Given the description of an element on the screen output the (x, y) to click on. 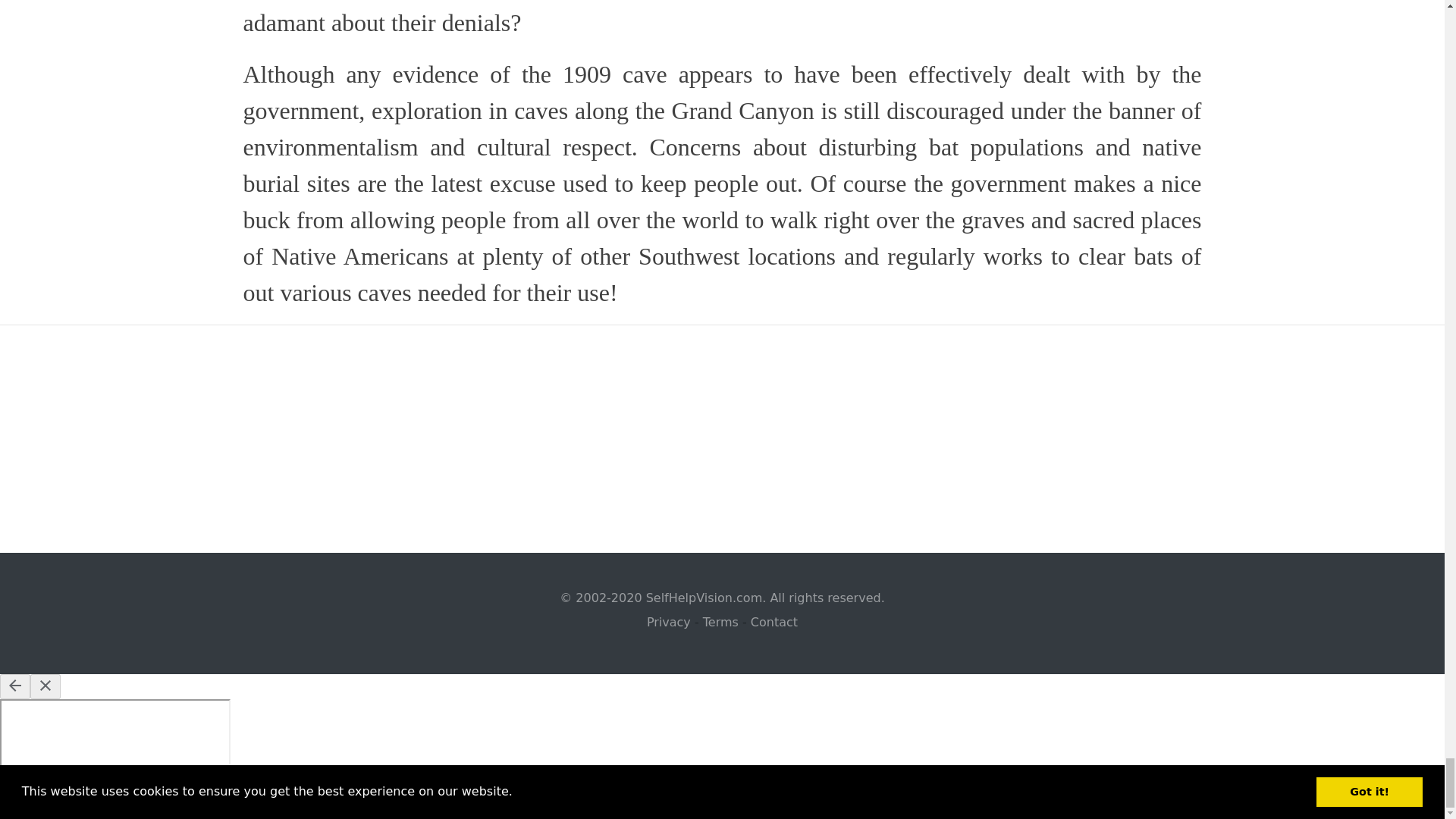
Contact (774, 622)
Privacy (668, 622)
Terms (720, 622)
